Given the description of an element on the screen output the (x, y) to click on. 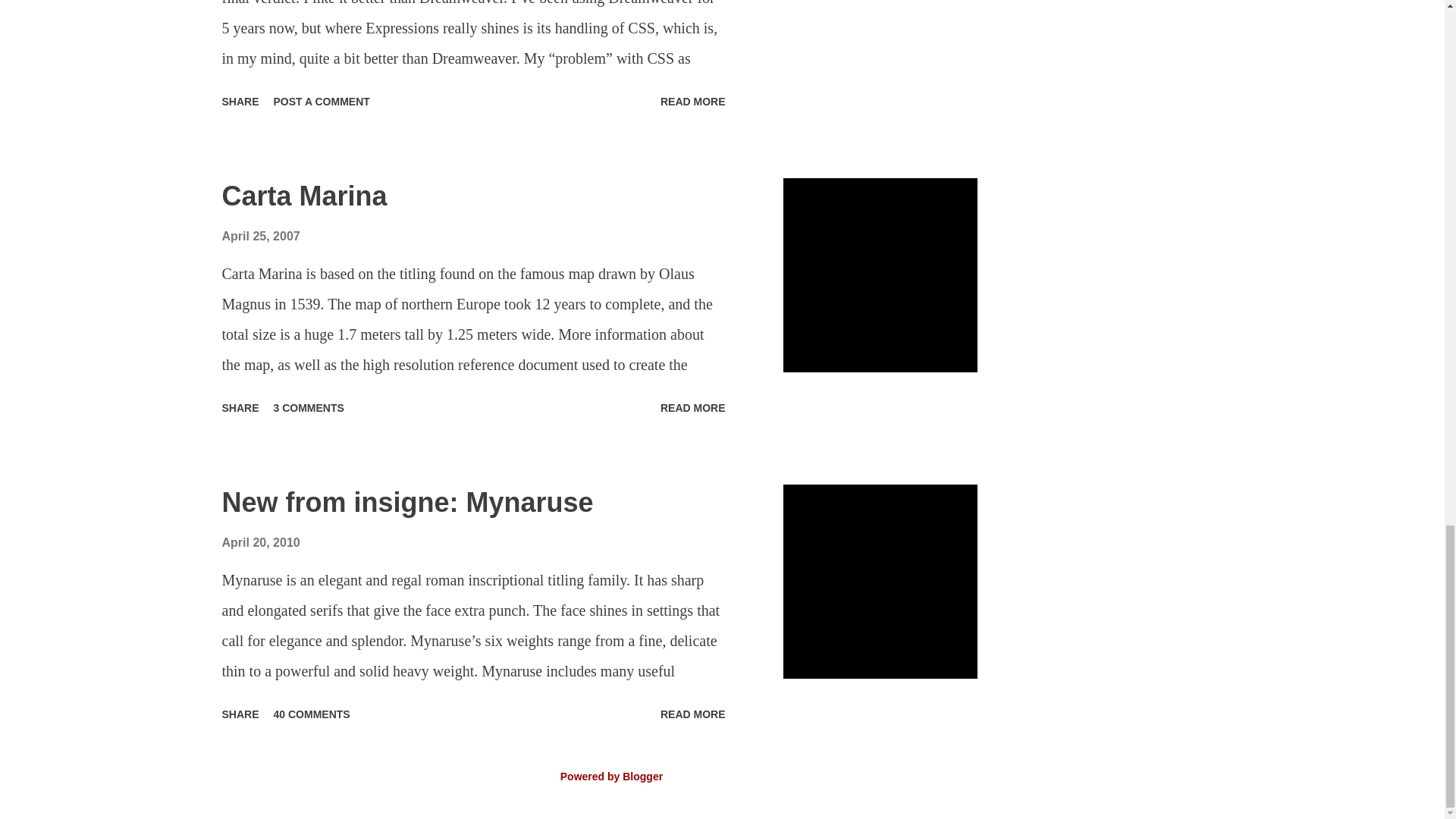
April 20, 2010 (260, 542)
POST A COMMENT (321, 101)
SHARE (239, 407)
SHARE (239, 101)
New from insigne: Mynaruse (406, 501)
READ MORE (692, 407)
READ MORE (692, 101)
3 COMMENTS (308, 407)
SHARE (239, 713)
April 25, 2007 (260, 236)
Carta Marina (304, 195)
